Given the description of an element on the screen output the (x, y) to click on. 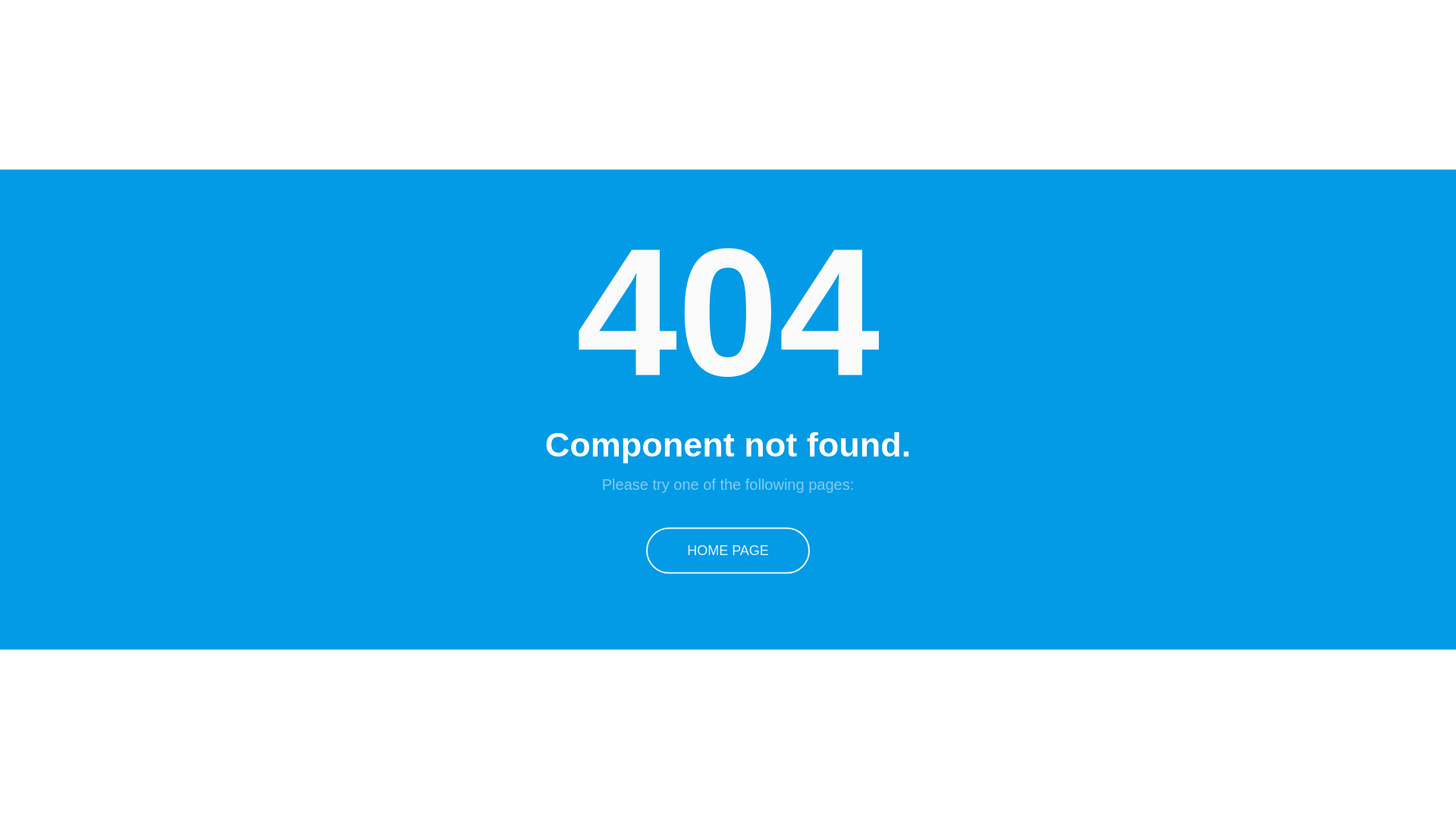
HOME PAGE Element type: text (727, 550)
